Given the description of an element on the screen output the (x, y) to click on. 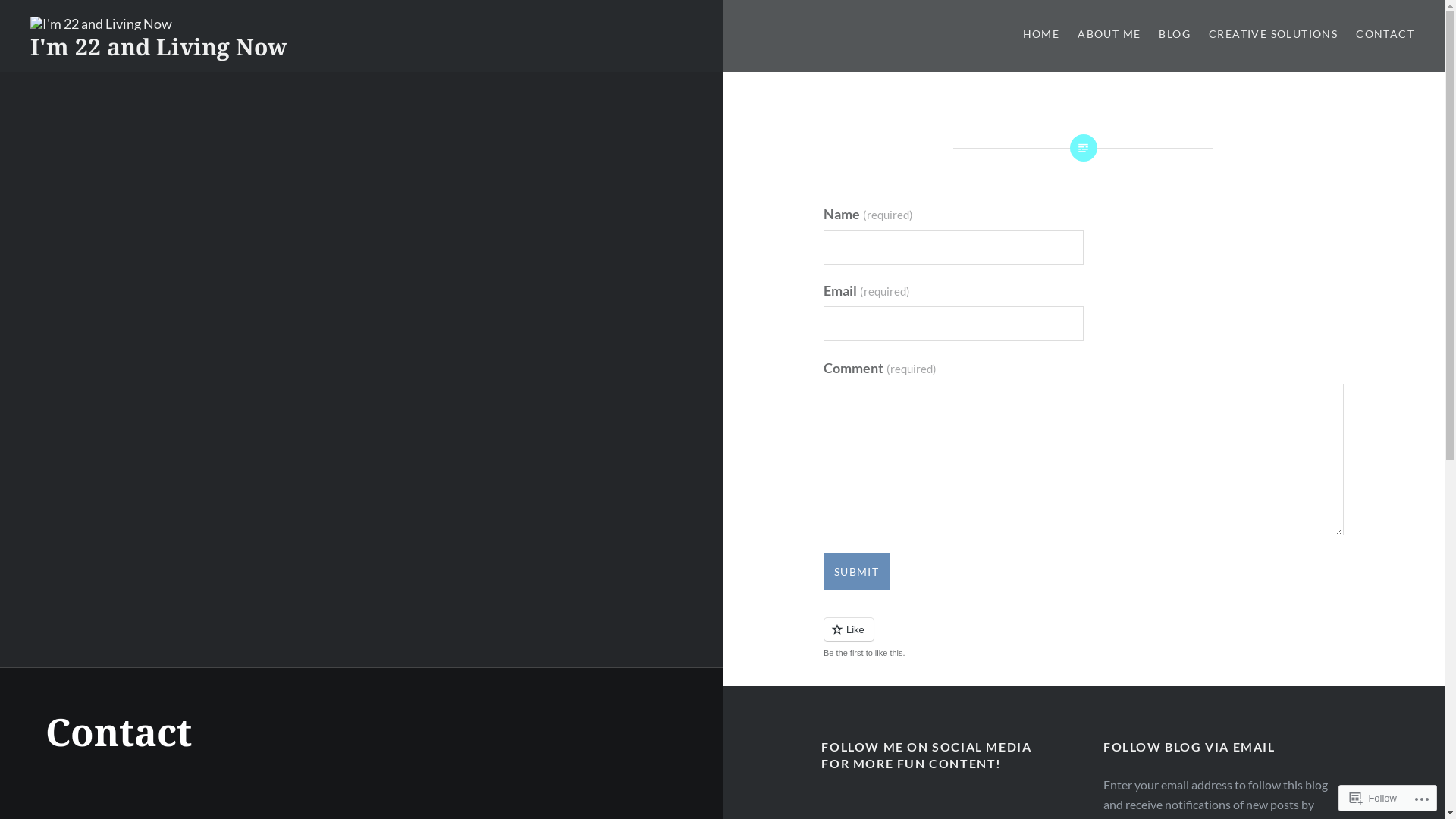
CREATIVE SOLUTIONS Element type: text (1272, 34)
HOME Element type: text (1041, 34)
Follow Element type: text (1372, 797)
I'm 22 and Living Now Element type: text (158, 46)
ABOUT ME Element type: text (1108, 34)
CONTACT Element type: text (1384, 34)
SUBMIT Element type: text (856, 570)
Like or Reblog Element type: hover (1083, 637)
BLOG Element type: text (1174, 34)
